Given the description of an element on the screen output the (x, y) to click on. 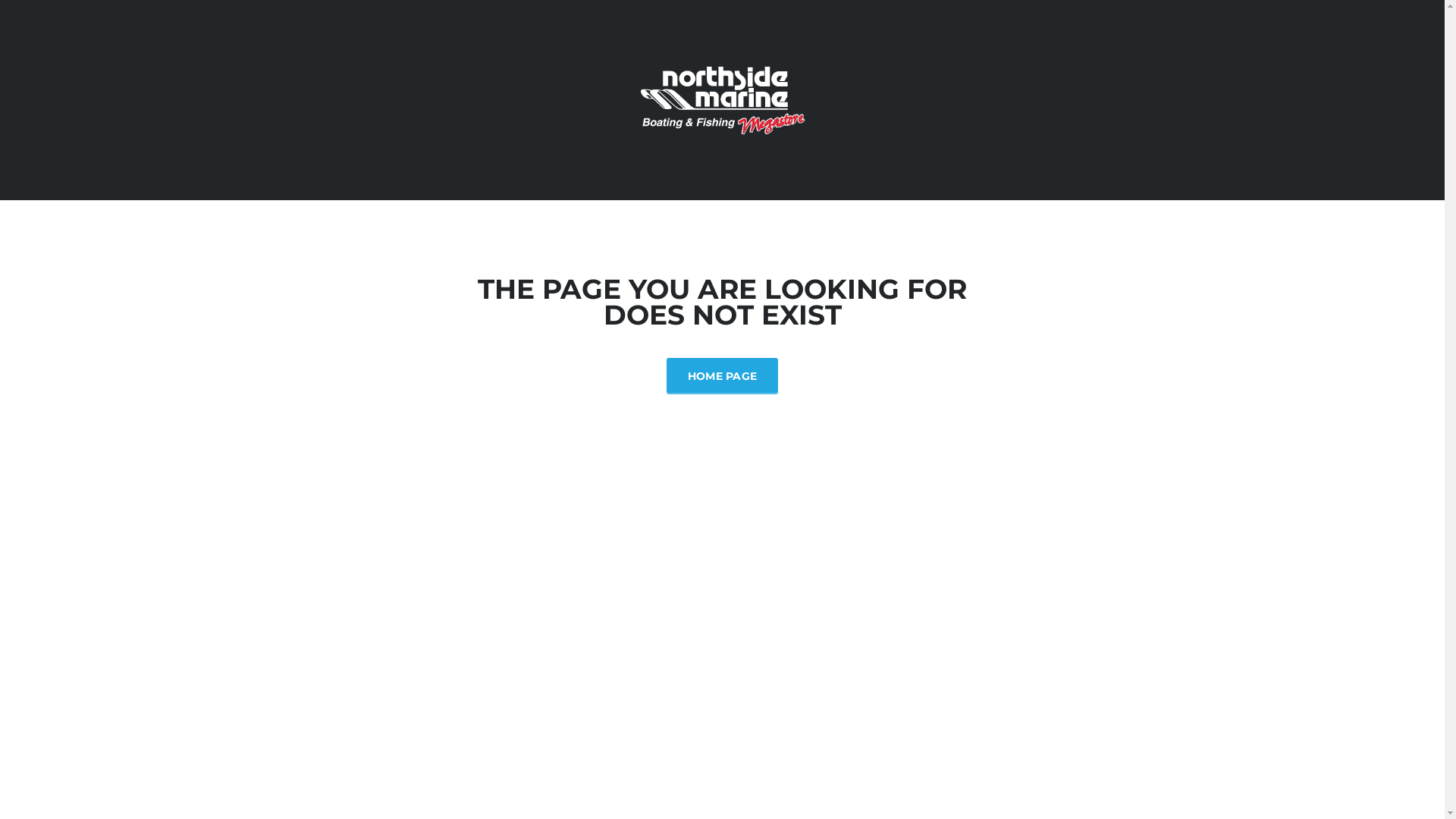
Home Element type: hover (721, 98)
HOME PAGE Element type: text (722, 374)
